Given the description of an element on the screen output the (x, y) to click on. 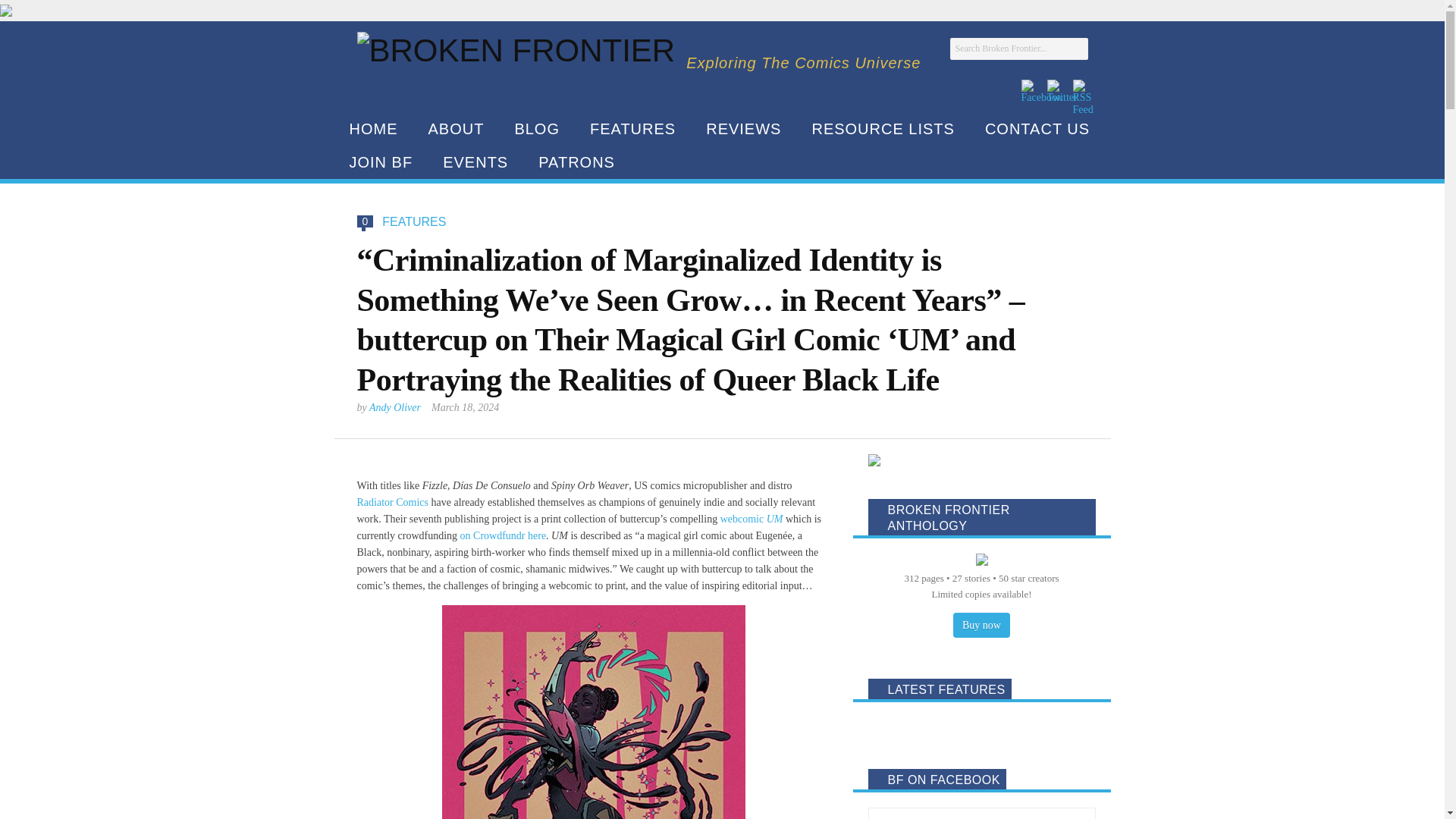
HOME (372, 128)
0 (365, 221)
Andy Oliver (394, 407)
Posts by Andy Oliver (394, 407)
REVIEWS (743, 128)
ABOUT (455, 128)
EVENTS (475, 162)
FEATURES (632, 128)
Radiator Comics (392, 501)
FEATURES (413, 221)
